Given the description of an element on the screen output the (x, y) to click on. 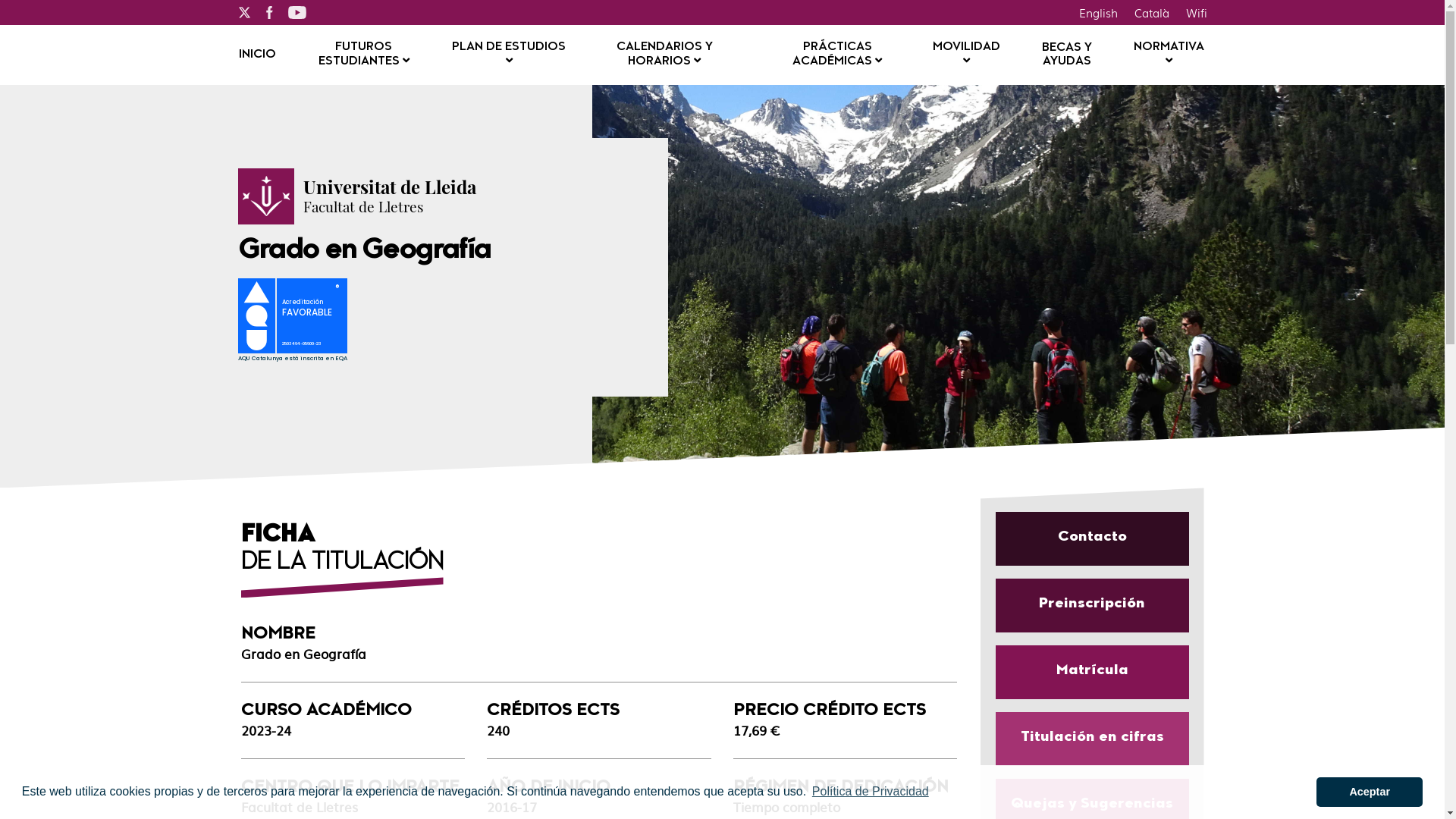
CALENDARIOS Y HORARIOS Element type: text (664, 54)
MOVILIDAD Element type: text (965, 54)
Aceptar Element type: text (1369, 791)
BECAS Y AYUDAS Element type: text (1066, 54)
SegellAcreditacioAQU_GGeografia_es Element type: hover (300, 322)
PLAN DE ESTUDIOS Element type: text (508, 54)
English Element type: text (1098, 12)
Universitat de Lleida
Facultat de Lletres Element type: text (389, 196)
FUTUROS ESTUDIANTES Element type: text (364, 54)
Wifi Element type: text (1195, 12)
INICIO Element type: text (256, 54)
NORMATIVA Element type: text (1169, 54)
